Given the description of an element on the screen output the (x, y) to click on. 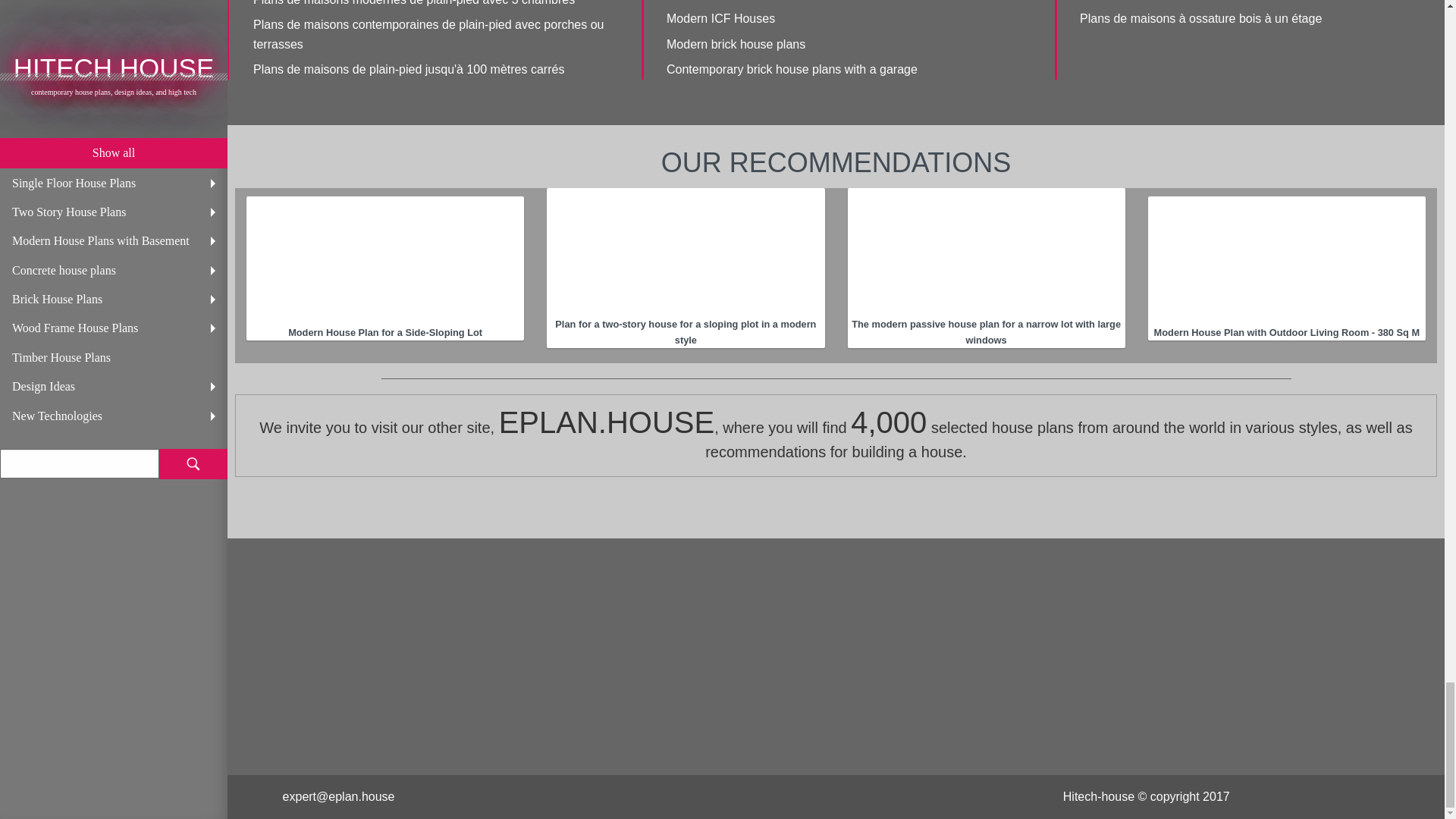
Modern House Plan with Outdoor Living Room - 380 Sq M (1286, 260)
Modern House Plan for a Side-Sloping Lot (385, 260)
